Given the description of an element on the screen output the (x, y) to click on. 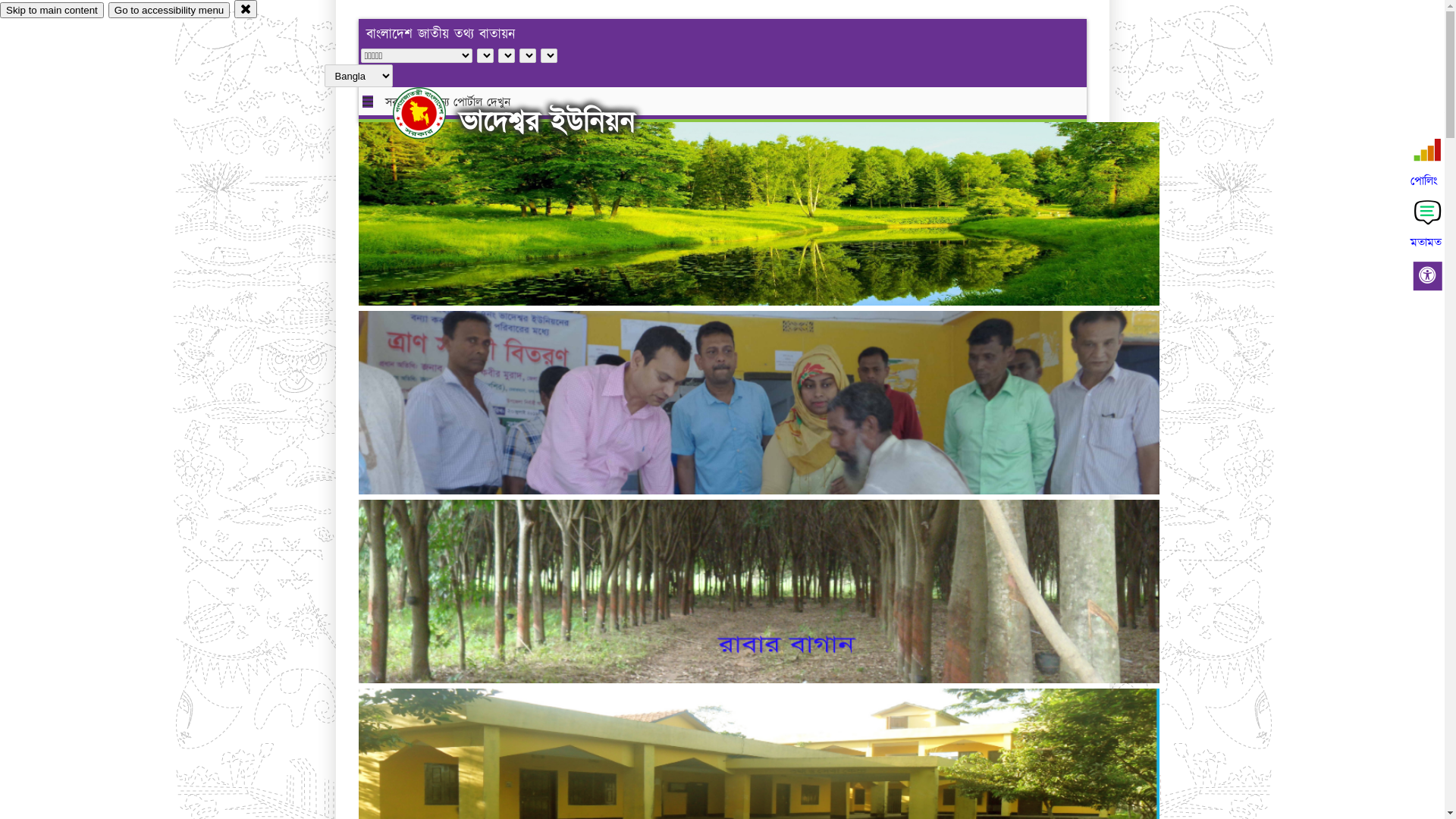
Skip to main content Element type: text (51, 10)
Go to accessibility menu Element type: text (168, 10)

                
             Element type: hover (431, 112)
close Element type: hover (245, 9)
